Given the description of an element on the screen output the (x, y) to click on. 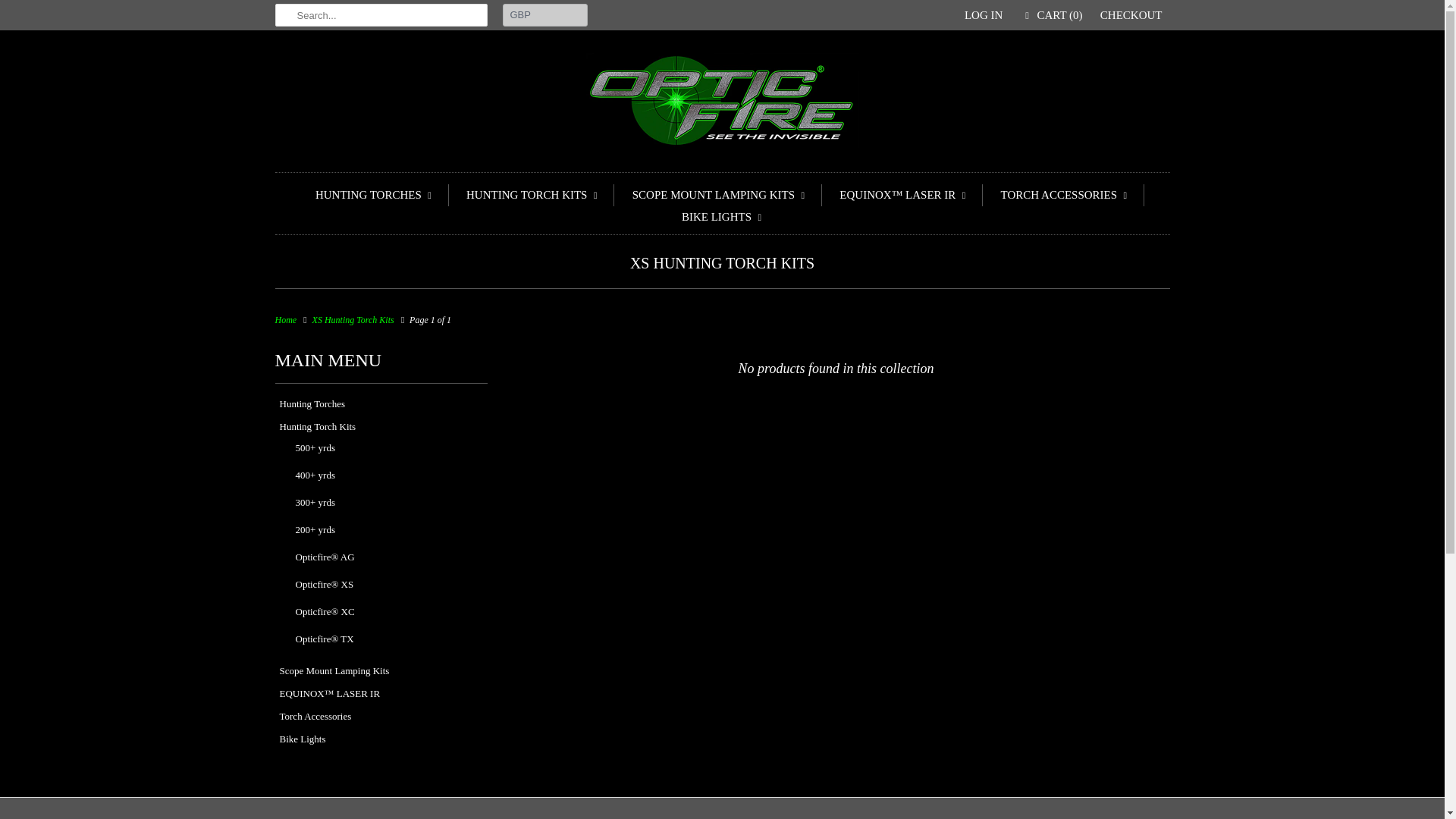
HUNTING TORCH KITS (531, 195)
Hunting Torch Kits (317, 426)
XS Hunting Torch Kits (721, 262)
HUNTING TORCHES (373, 195)
Bike Lights (301, 738)
LOG IN (983, 15)
Scope Mount Lamping Kits (333, 670)
CHECKOUT (1130, 15)
Hunting Torches (312, 403)
Torch Accessories (314, 715)
XS Hunting Torch Kits (353, 319)
